Given the description of an element on the screen output the (x, y) to click on. 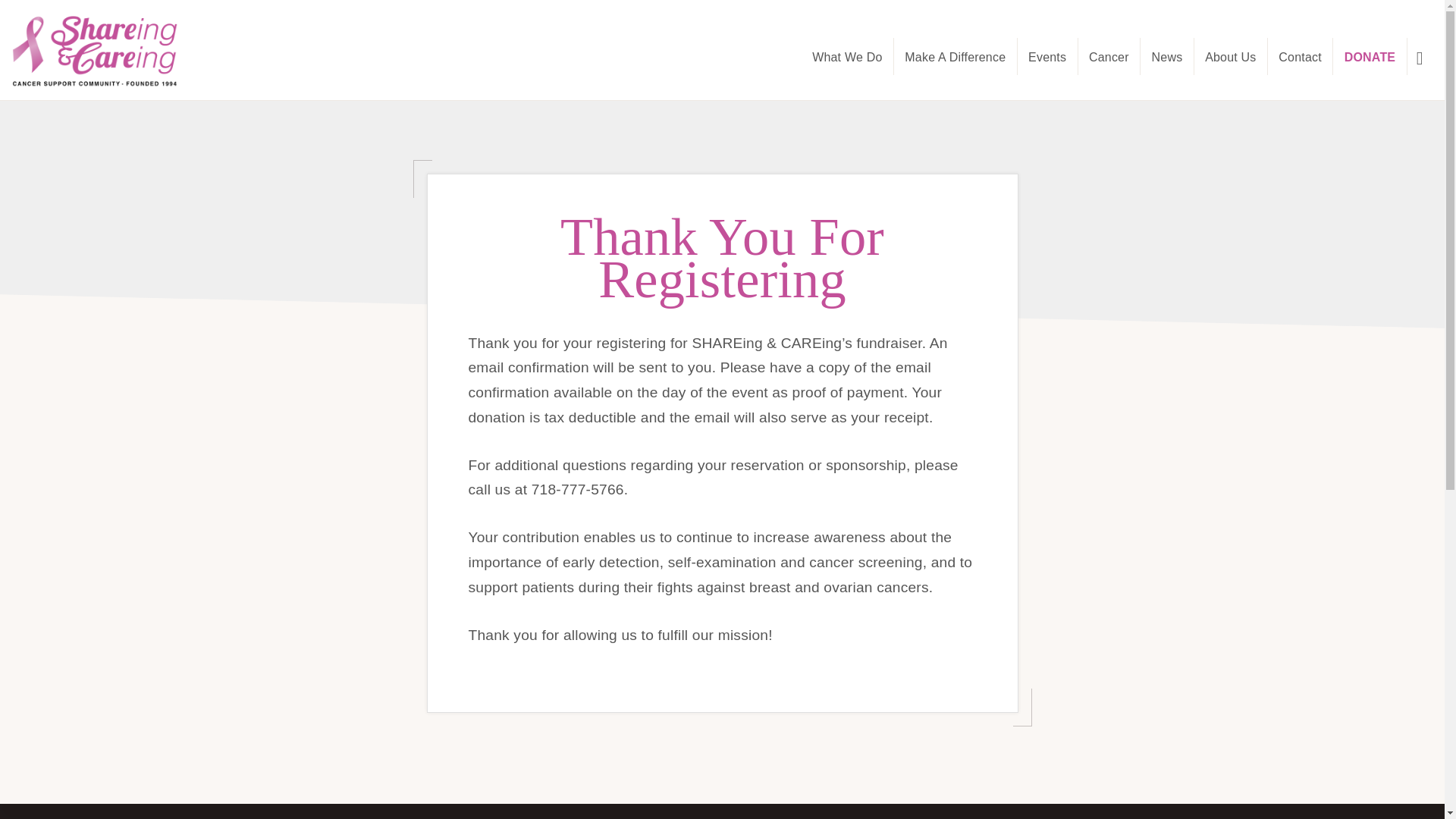
News (1166, 56)
Non-Profit Web Design (684, 749)
Subscribe (936, 694)
Contact (1300, 56)
What We Do (847, 56)
About Us (1229, 56)
Make A Difference (954, 56)
Cancer (1109, 56)
Events (1047, 56)
